Given the description of an element on the screen output the (x, y) to click on. 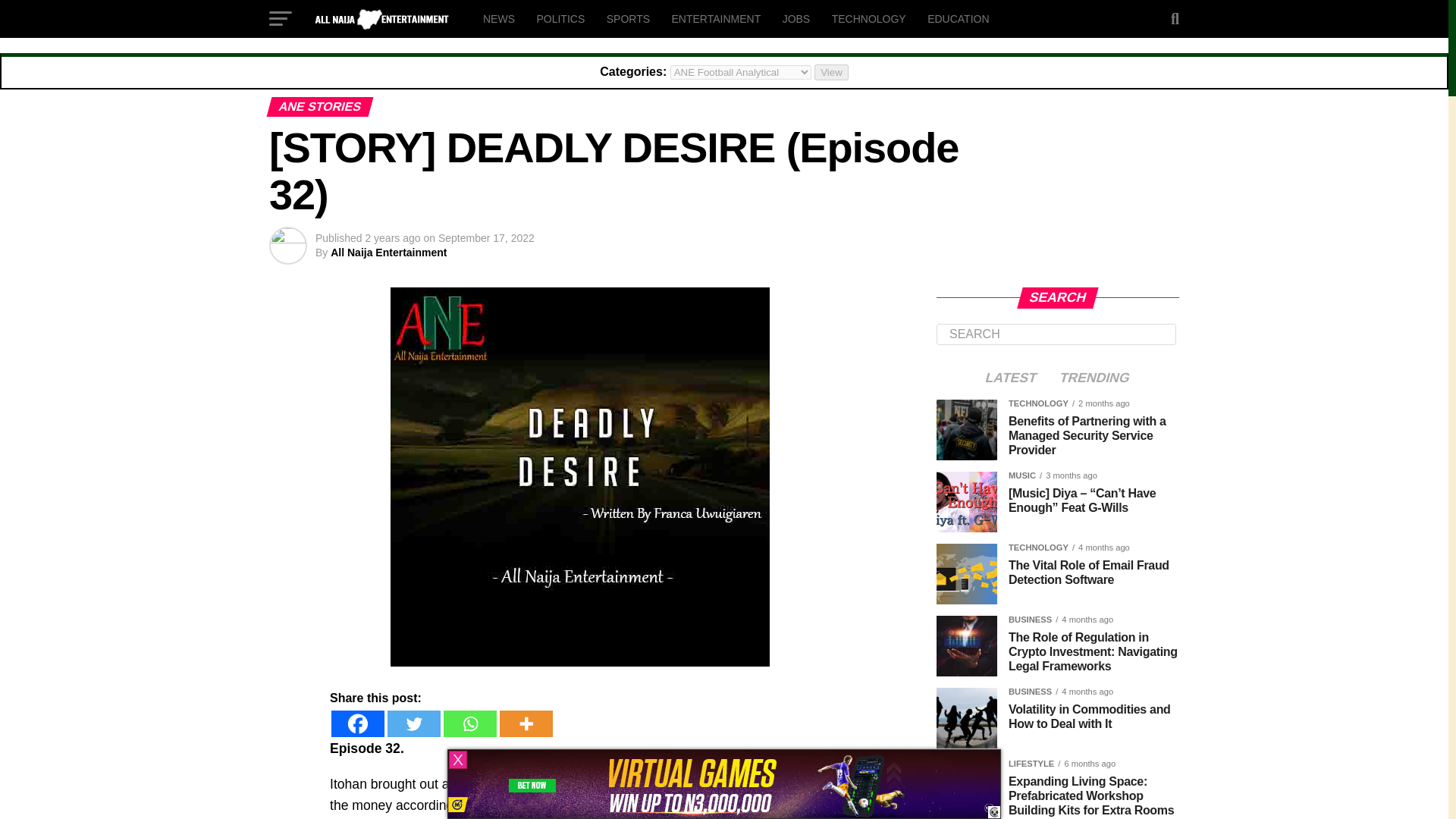
SPORTS (627, 18)
NEWS (499, 18)
All Naija Entertainment (388, 252)
Search (1056, 333)
Whatsapp (470, 723)
View (830, 72)
JOBS (796, 18)
Posts by All Naija Entertainment (388, 252)
TECHNOLOGY (868, 18)
View (830, 72)
